Given the description of an element on the screen output the (x, y) to click on. 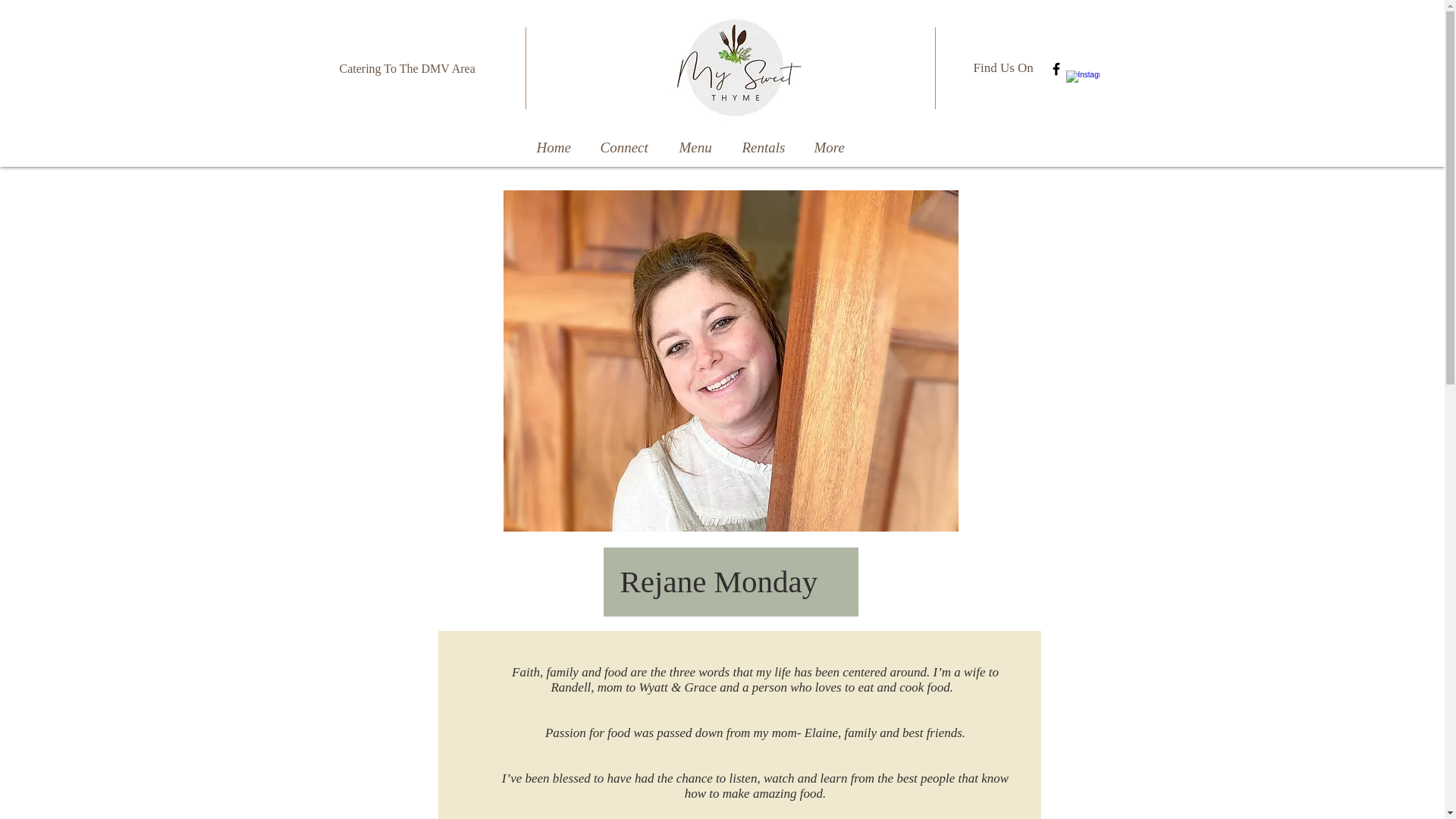
Rentals (765, 147)
Menu (697, 147)
Connect (625, 147)
Home (554, 147)
